Given the description of an element on the screen output the (x, y) to click on. 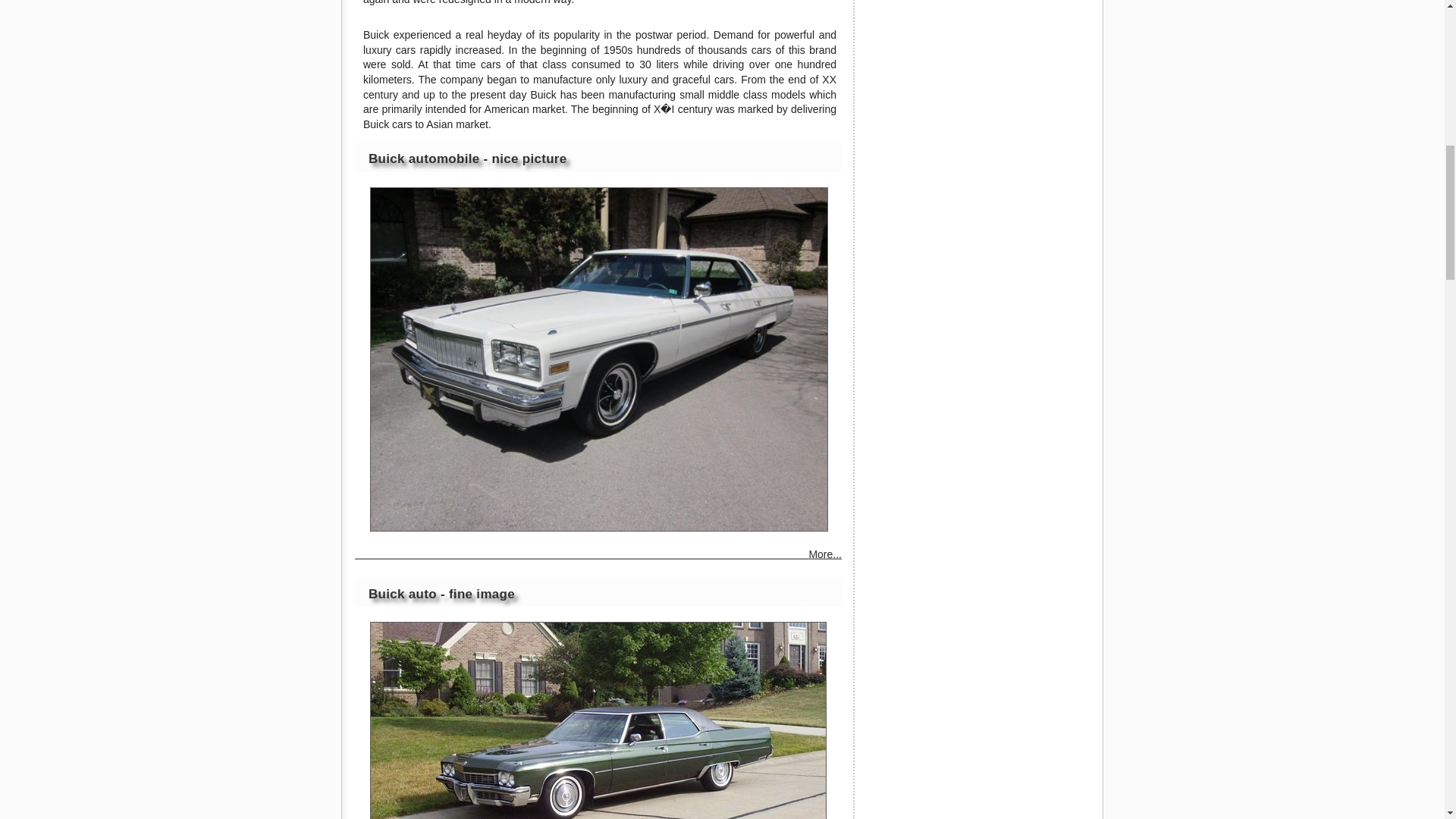
Buick auto - fine image (441, 594)
Buick auto - fine image (598, 720)
More... (824, 555)
Buick automobile - nice picture (467, 158)
